Given the description of an element on the screen output the (x, y) to click on. 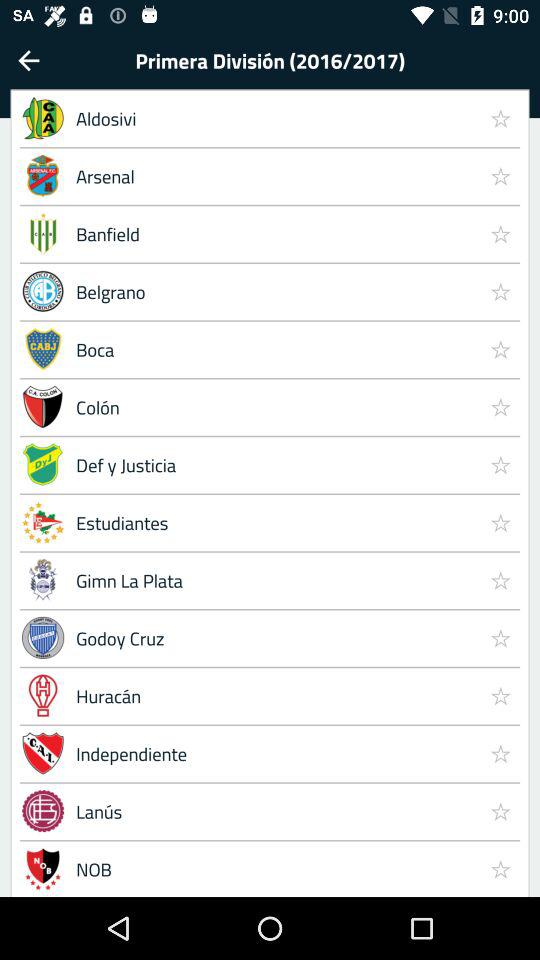
press the icon below the def y justicia item (500, 522)
